Given the description of an element on the screen output the (x, y) to click on. 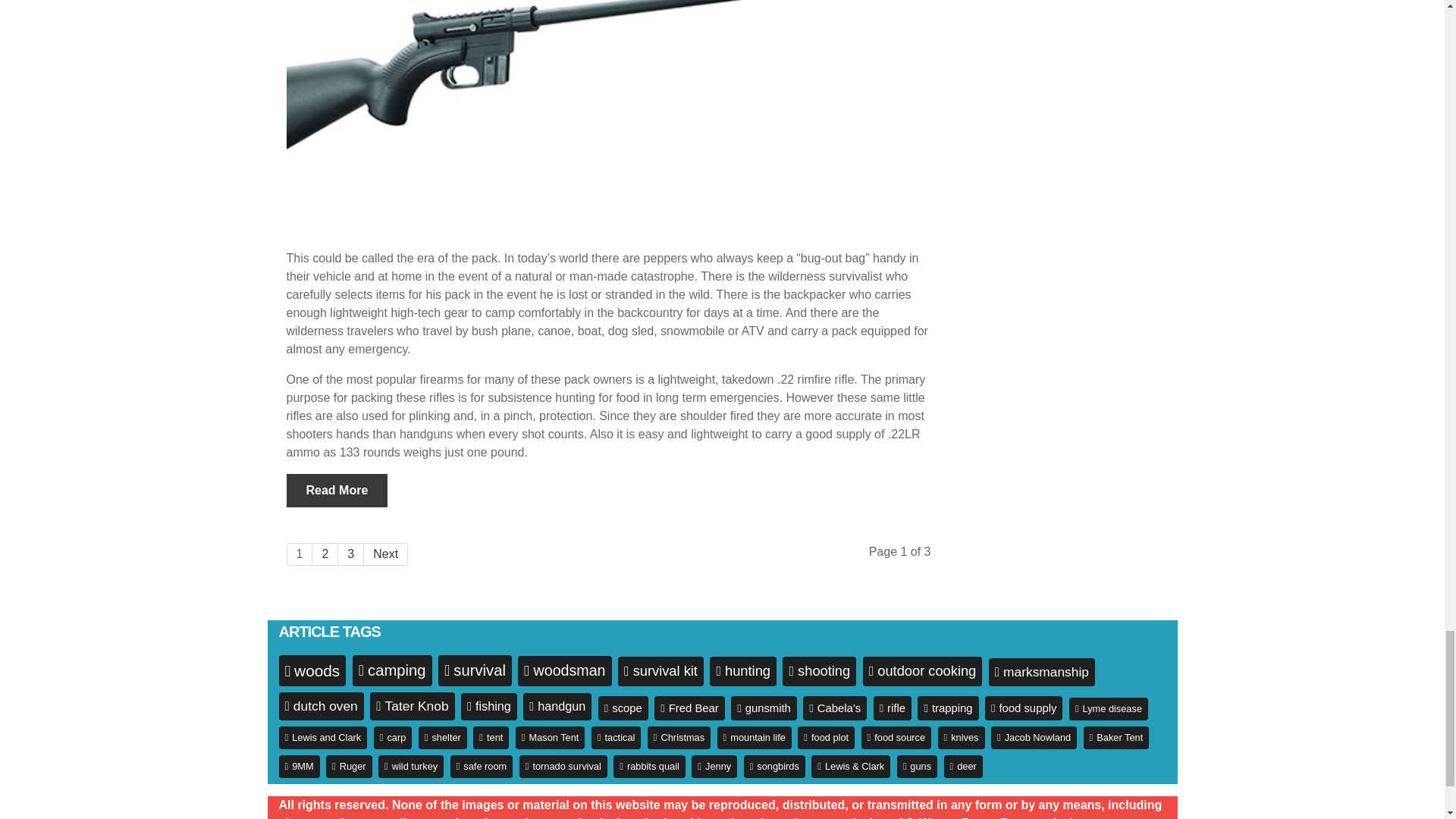
3 (350, 553)
2 (325, 553)
Read More (337, 490)
Next (385, 553)
